Given the description of an element on the screen output the (x, y) to click on. 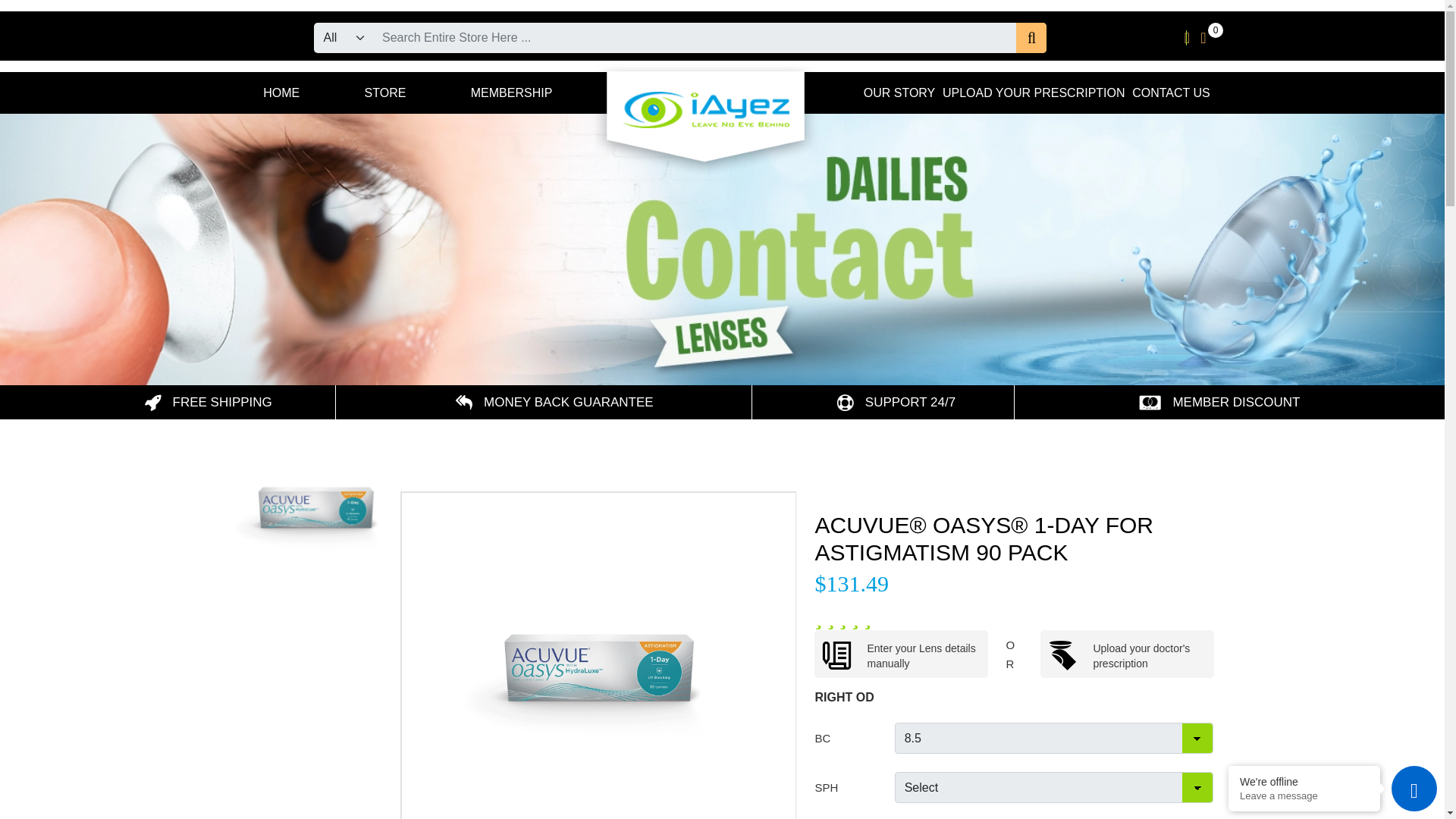
OUR STORY (899, 92)
FREE SHIPPING (207, 402)
UPLOAD YOUR PRESCRIPTION (1033, 92)
STORE (383, 92)
HOME (279, 92)
We're offline (1304, 781)
Leave a message (1304, 795)
MEMBERSHIP (511, 92)
CONTACT US (1170, 92)
MONEY BACK GUARANTEE (554, 402)
